Given the description of an element on the screen output the (x, y) to click on. 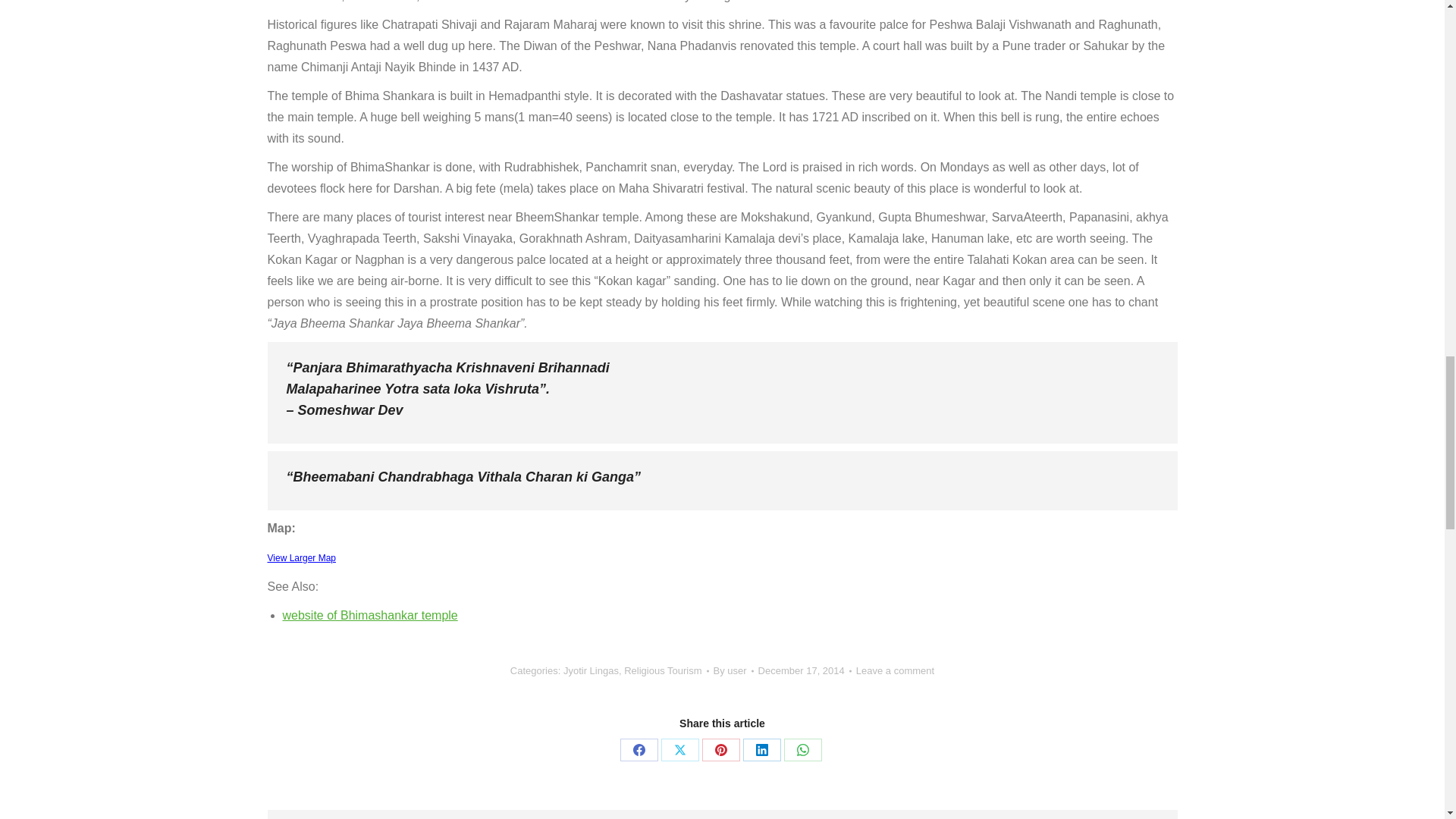
View all posts by user (733, 671)
Facebook (639, 749)
10:33 am (804, 671)
Pinterest (720, 749)
X (679, 749)
